Given the description of an element on the screen output the (x, y) to click on. 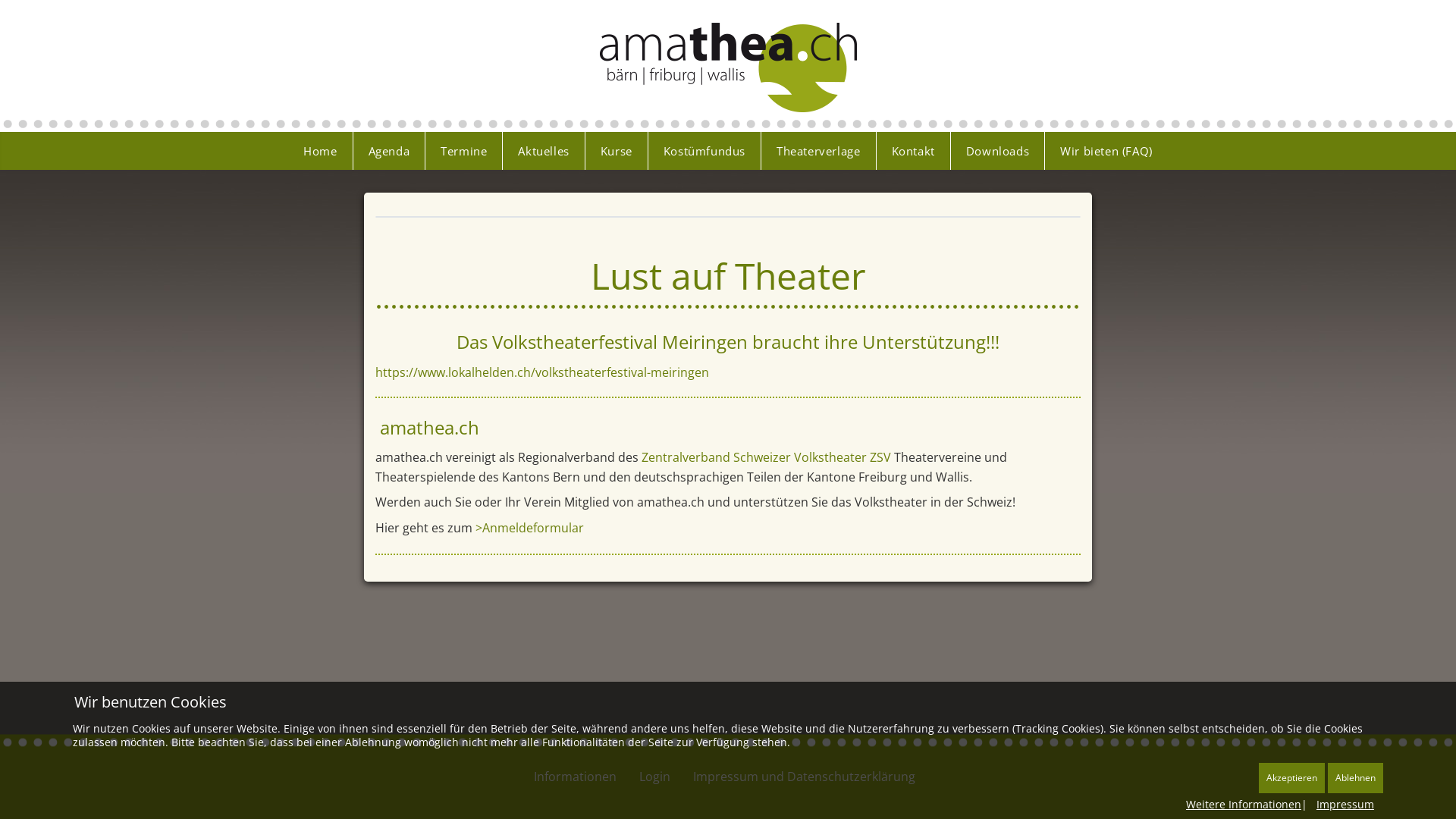
Home Element type: text (320, 150)
Downloads Element type: text (997, 150)
Termine Element type: text (463, 150)
>Anmeldeformular Element type: text (529, 527)
Kontakt Element type: text (913, 150)
Weitere Informationen Element type: text (1243, 804)
Zentralverband Schweizer Volkstheater ZSV Element type: text (766, 456)
Impressum Element type: text (1345, 804)
Kurse Element type: text (616, 150)
Agenda Element type: text (389, 150)
Theaterverlage Element type: text (818, 150)
https://www.lokalhelden.ch/volkstheaterfestival-meiringen Element type: text (542, 372)
Informationen Element type: text (574, 776)
Akzeptieren Element type: text (1291, 777)
Wir bieten (FAQ) Element type: text (1105, 150)
Aktuelles Element type: text (543, 150)
Ablehnen Element type: text (1355, 777)
Login Element type: text (653, 776)
